Given the description of an element on the screen output the (x, y) to click on. 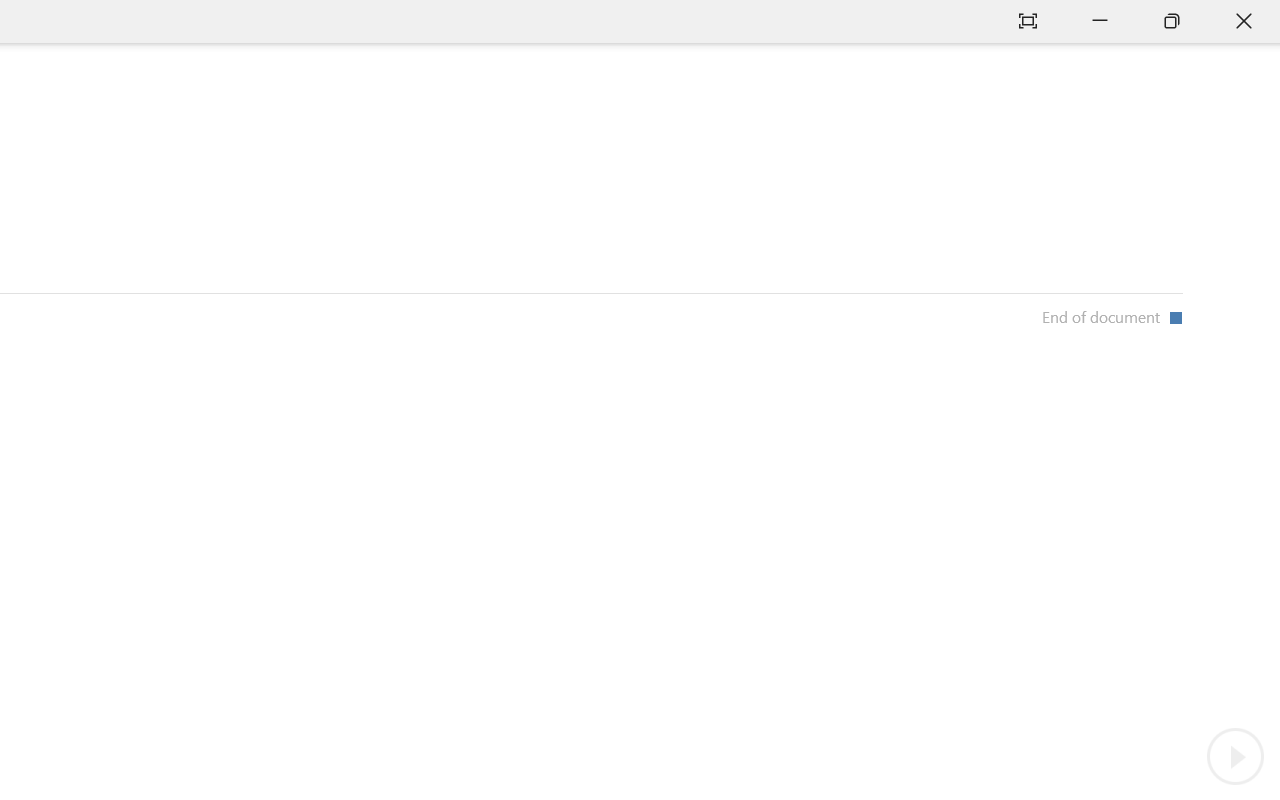
Auto-hide Reading Toolbar (1027, 21)
